Given the description of an element on the screen output the (x, y) to click on. 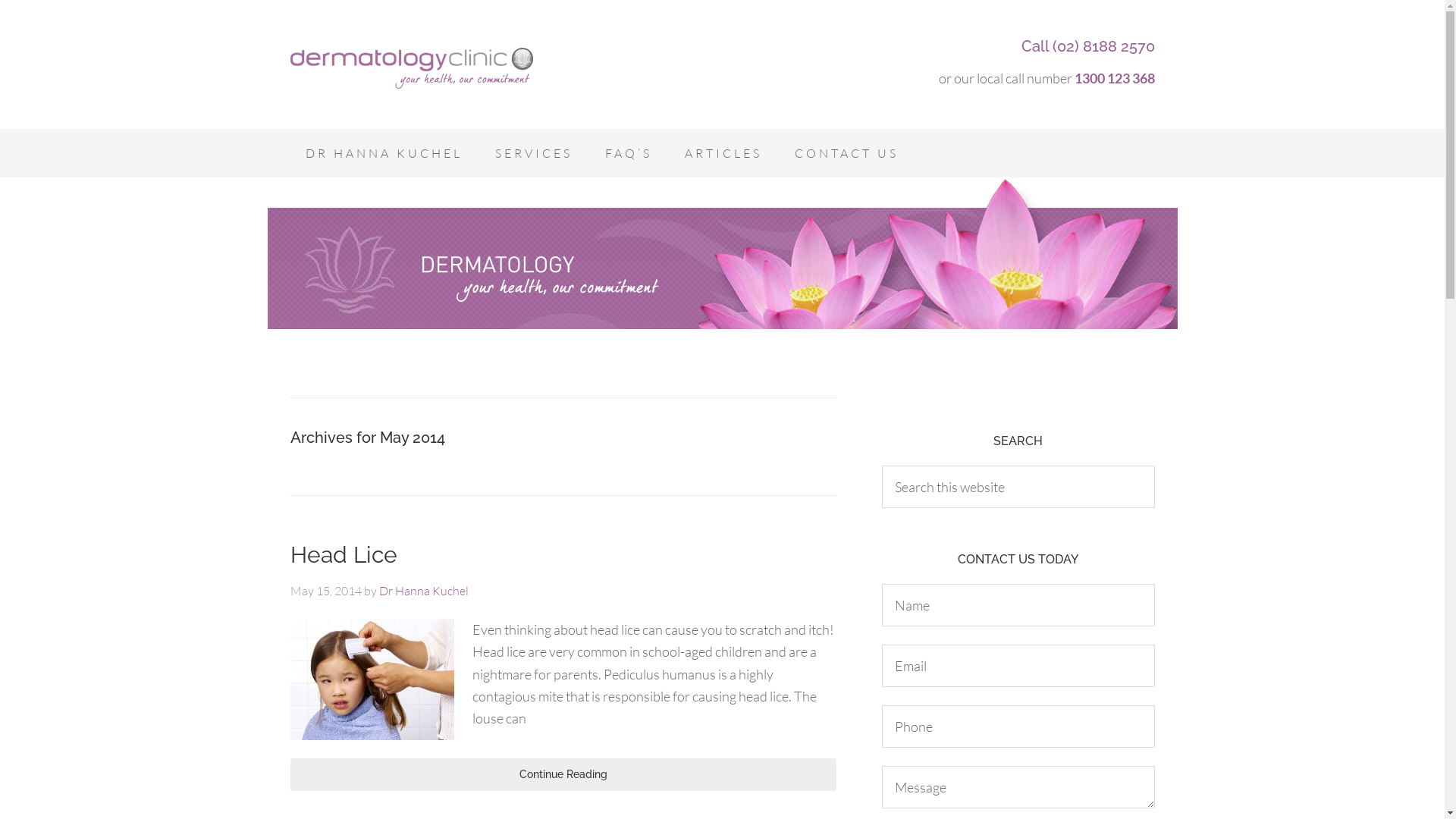
SERVICES Element type: text (532, 152)
Head Lice Element type: text (342, 554)
Call (02) 8188 2570 Element type: text (1087, 46)
DR HANNA KUCHEL Element type: text (382, 152)
Continue Reading Element type: text (562, 774)
ARTICLES Element type: text (722, 152)
Dermatology Sydney Element type: text (410, 67)
Dr Hanna Kuchel Element type: text (423, 590)
Search Element type: text (1154, 464)
1300 123 368 Element type: text (1113, 77)
CONTACT US Element type: text (846, 152)
